Given the description of an element on the screen output the (x, y) to click on. 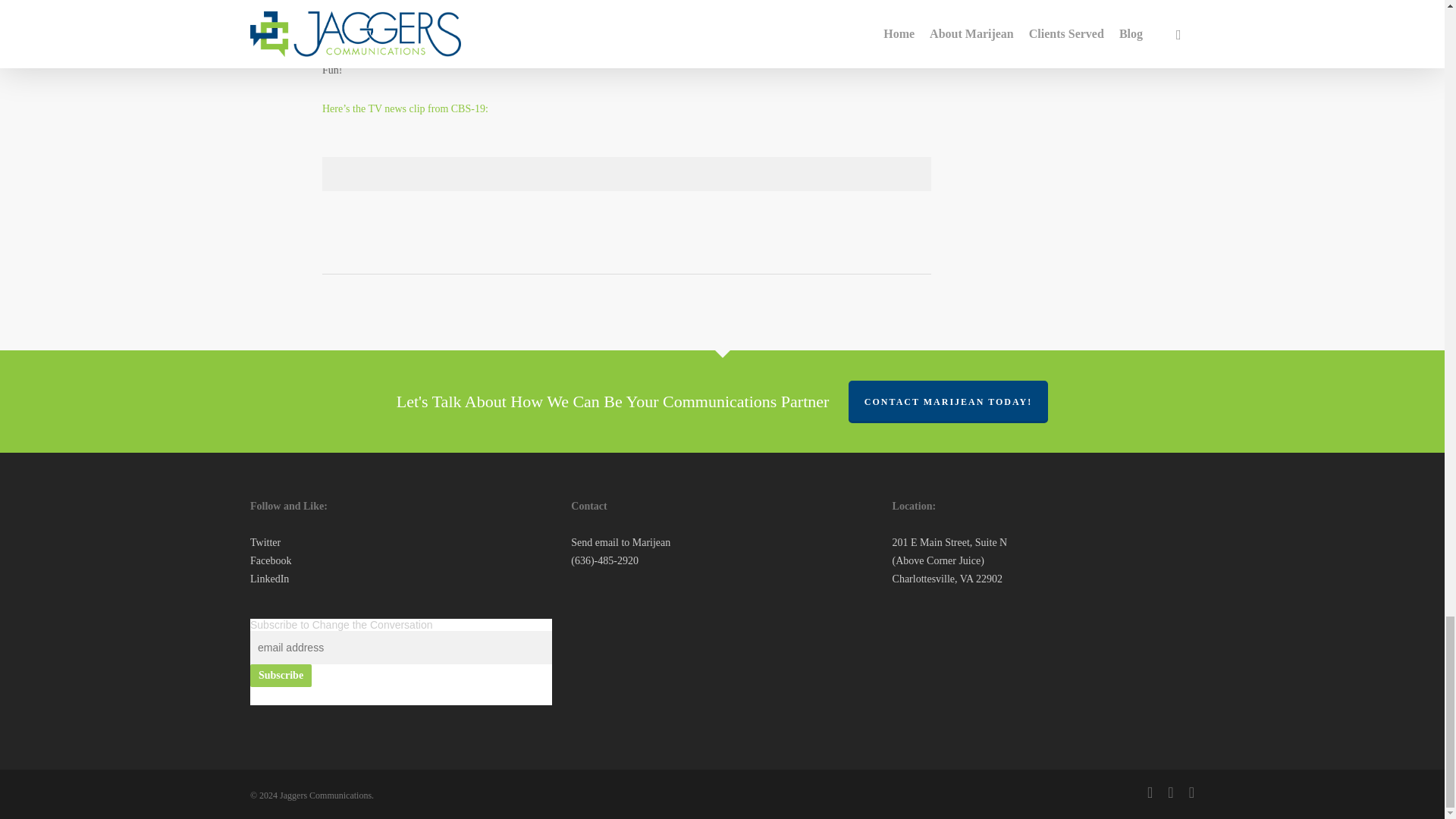
Subscribe (280, 675)
CDS-102 (397, 13)
